Given the description of an element on the screen output the (x, y) to click on. 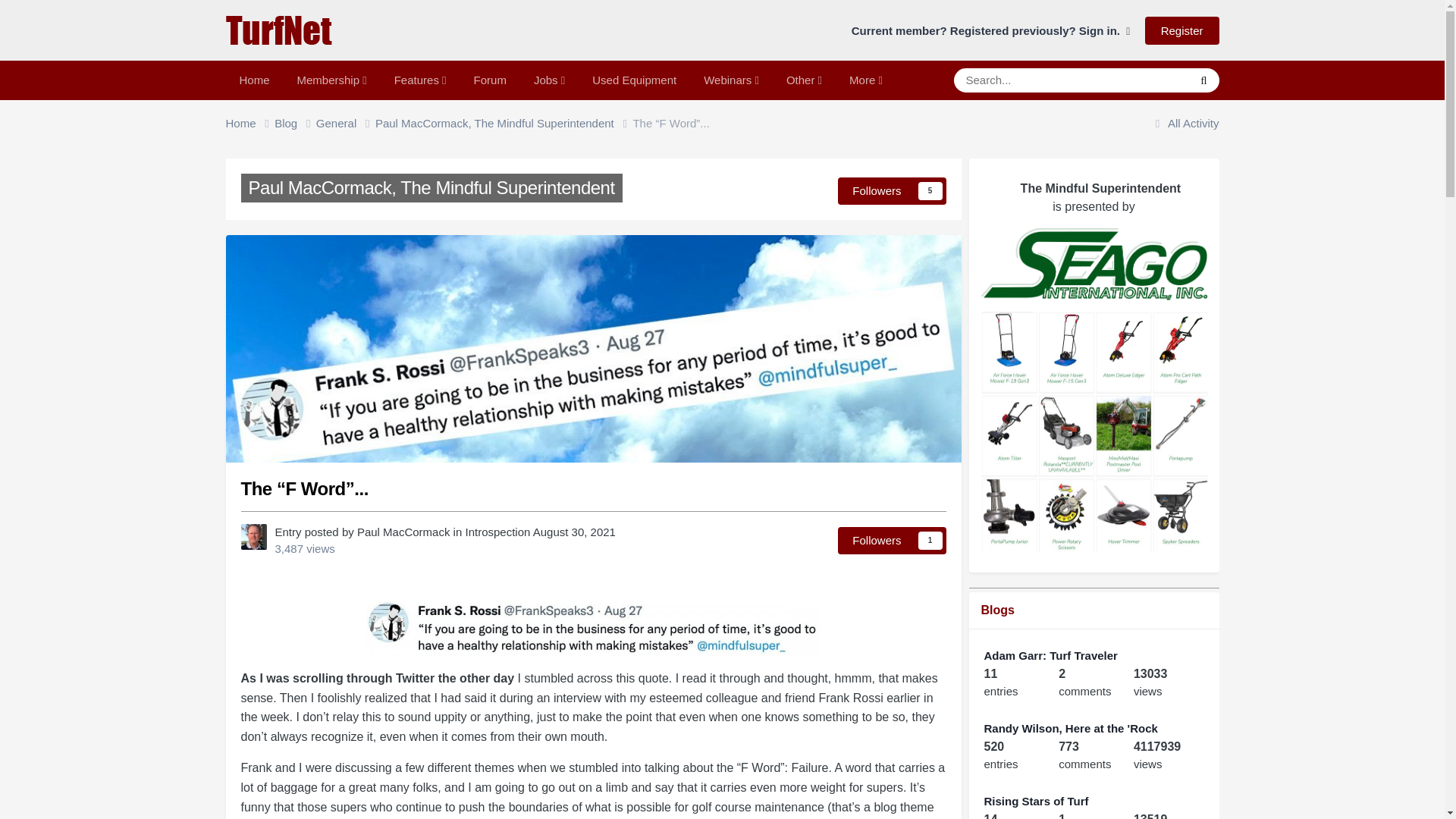
Go to Paul MacCormack's profile (253, 536)
Features (420, 79)
More (865, 79)
Webinars (731, 79)
Used Equipment (634, 79)
Home (254, 79)
Forum (489, 79)
Home (250, 123)
Current member? Registered previously? Sign in.   (991, 30)
Sign in to follow this (891, 541)
Register (1182, 30)
Go to Paul MacCormack's profile (402, 531)
Membership (331, 79)
Jobs (548, 79)
Other (804, 79)
